Given the description of an element on the screen output the (x, y) to click on. 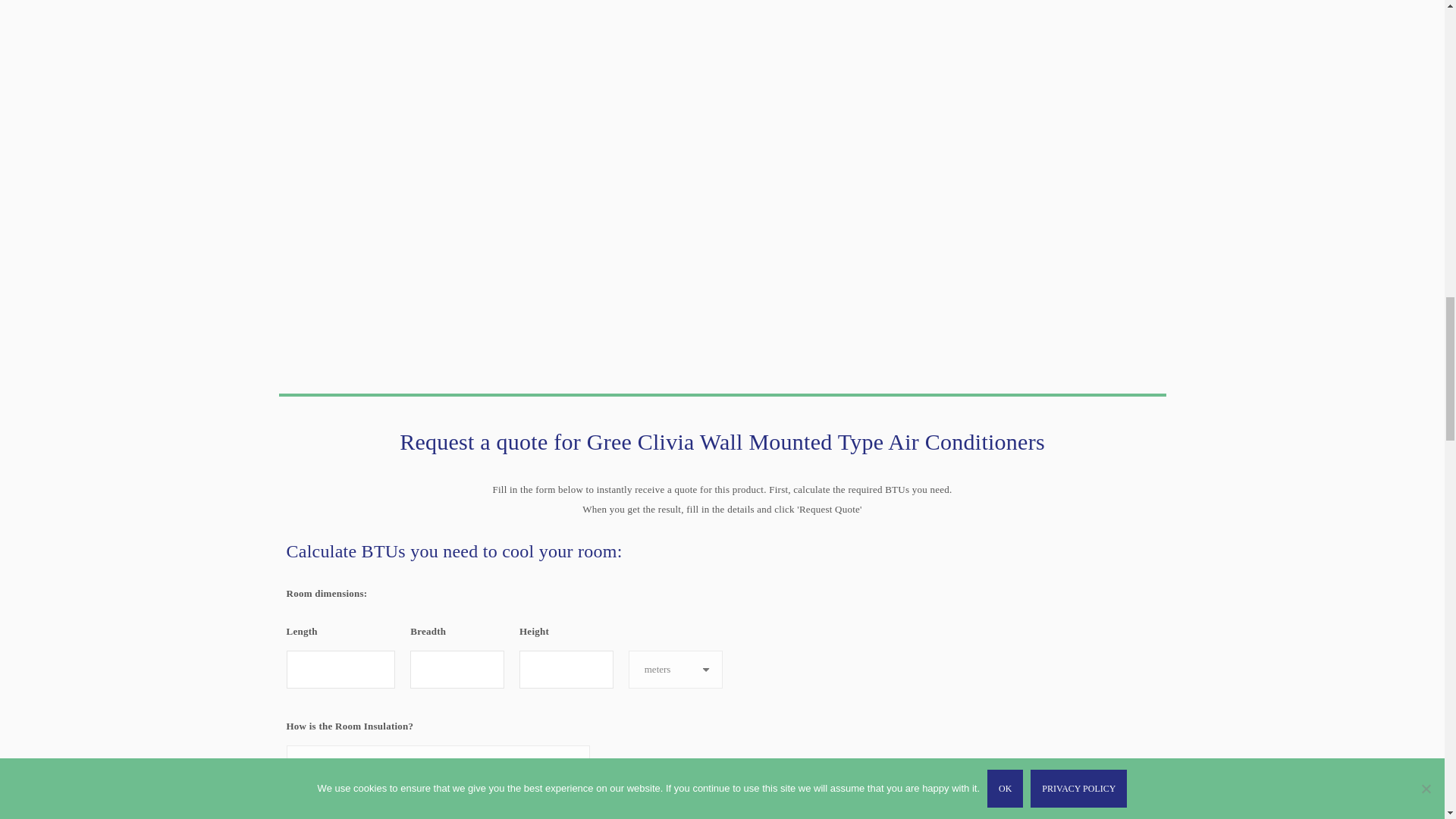
CALCULATE (359, 812)
